Given the description of an element on the screen output the (x, y) to click on. 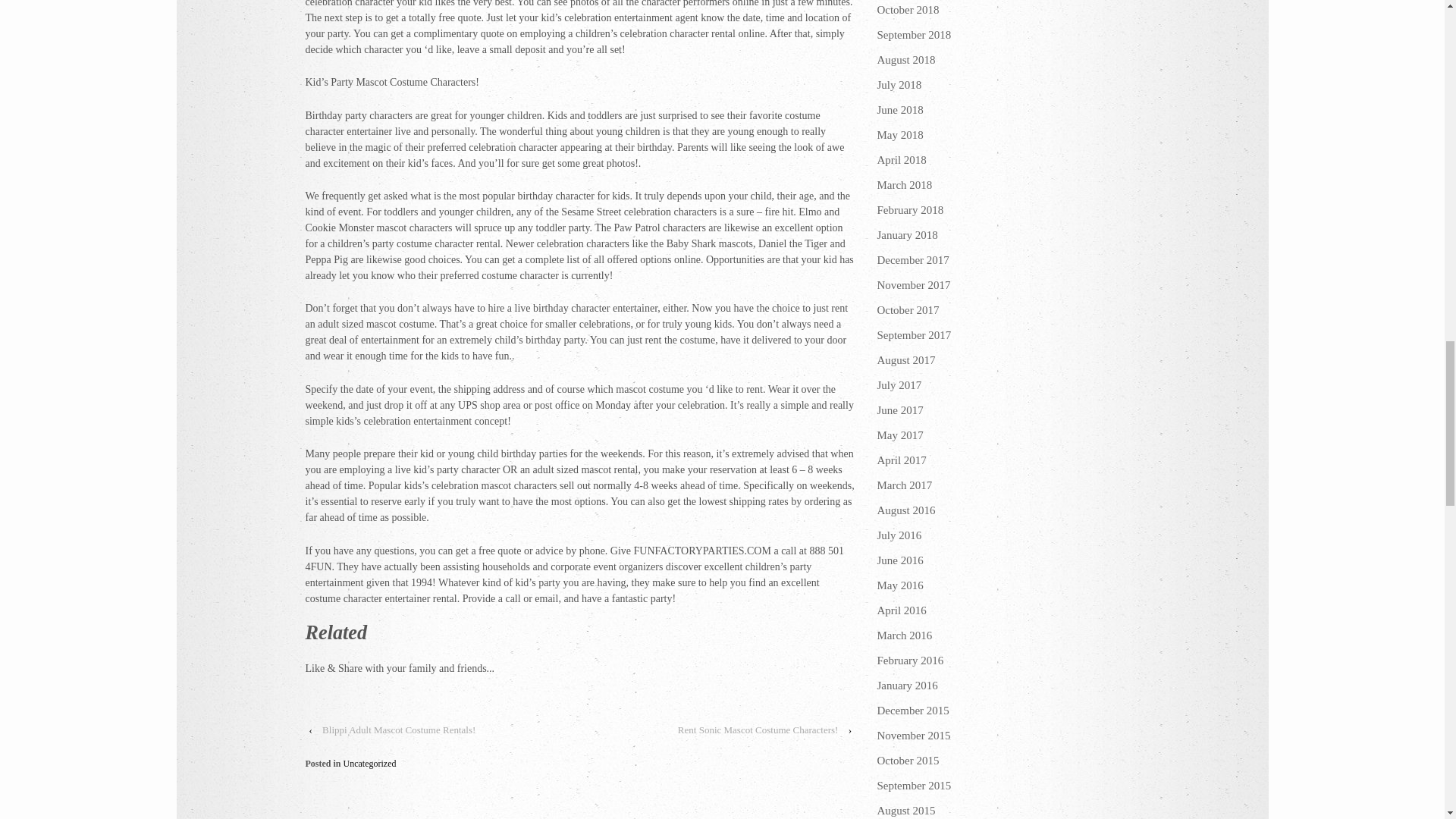
Blippi Adult Mascot Costume Rentals! (398, 729)
